Given the description of an element on the screen output the (x, y) to click on. 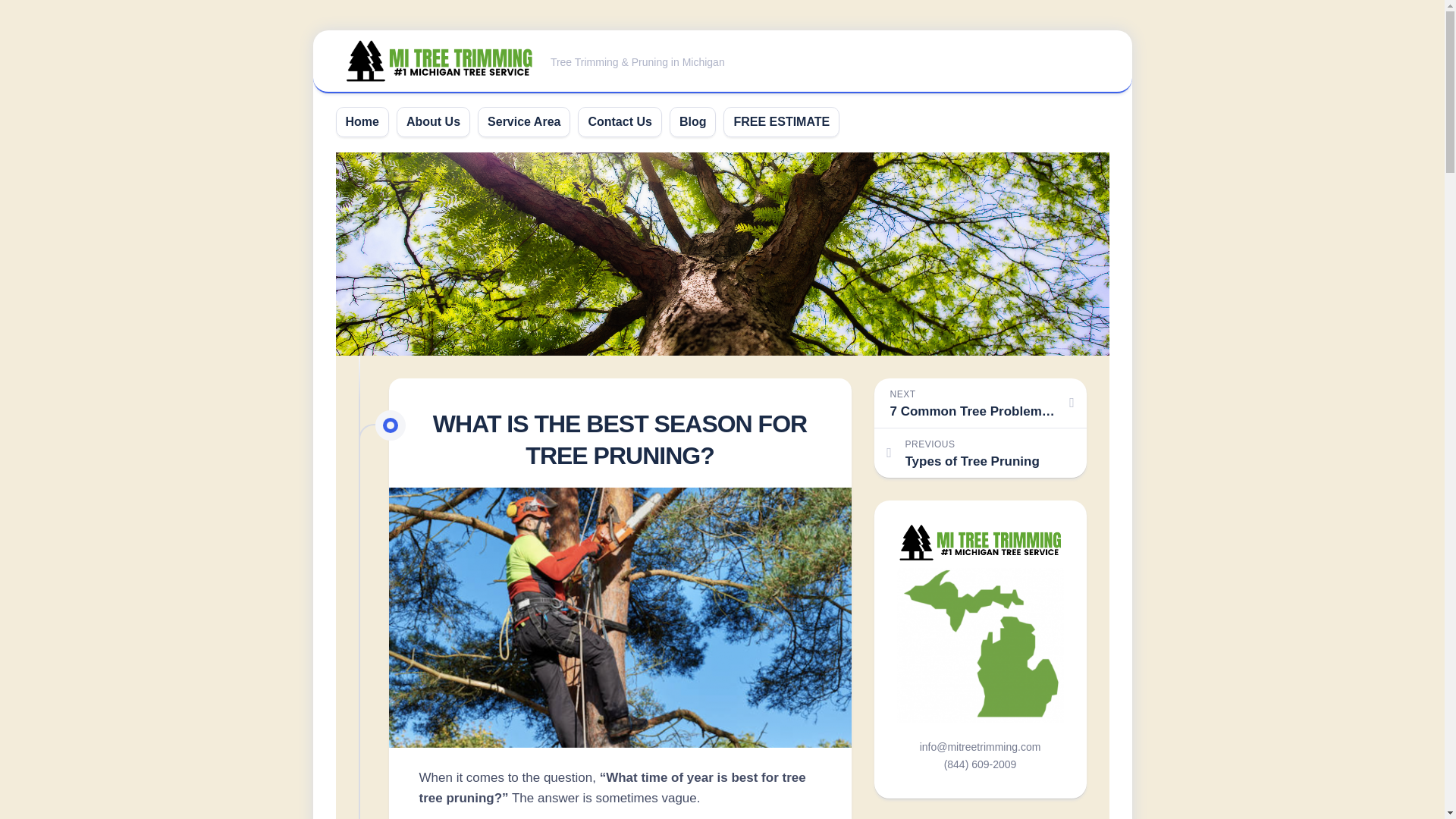
About Us (433, 121)
Service Area (523, 121)
FREE ESTIMATE (979, 452)
Contact Us (781, 121)
Home (619, 121)
Blog (362, 121)
